Given the description of an element on the screen output the (x, y) to click on. 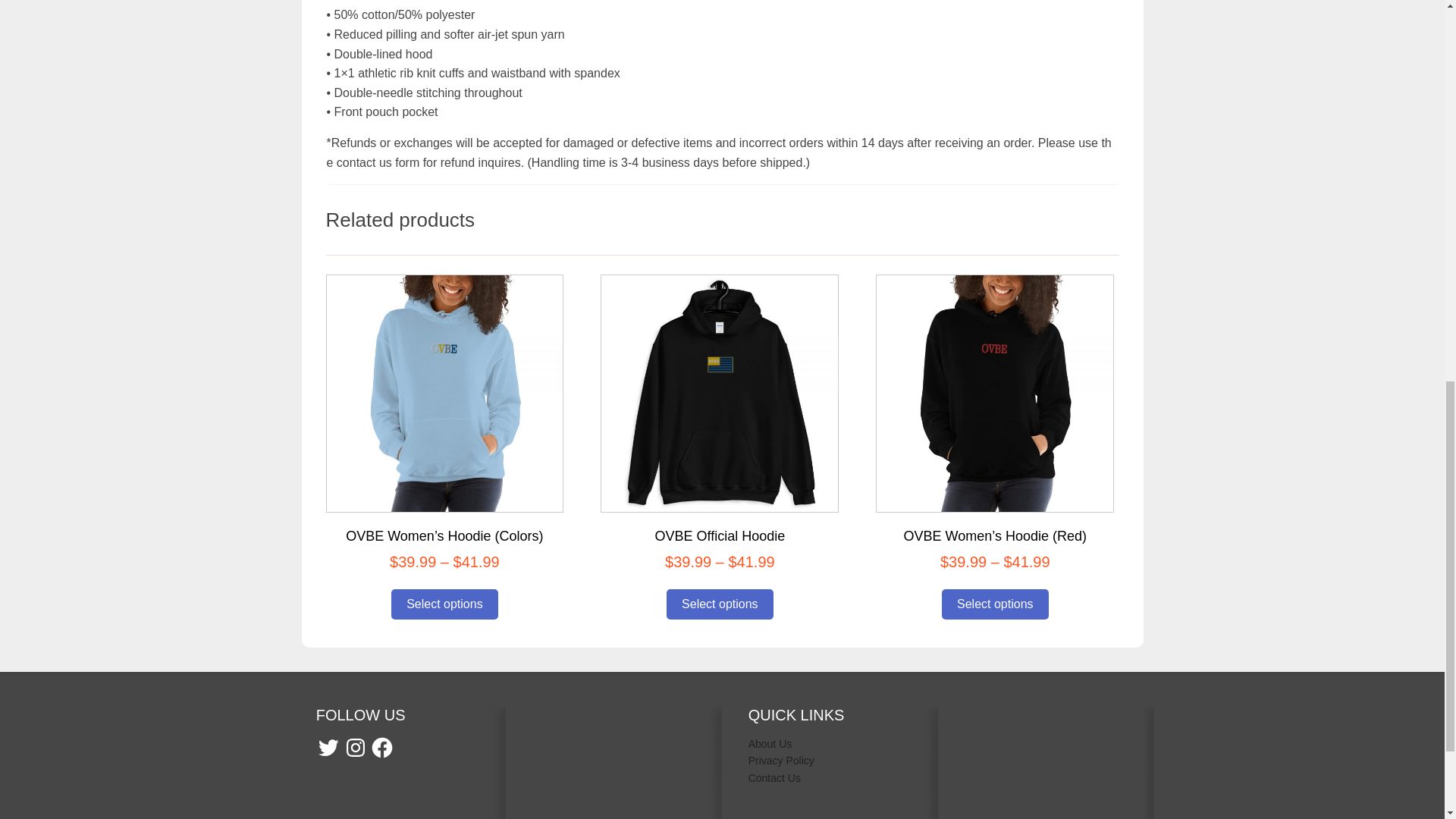
About Us (770, 743)
Select options (995, 603)
Facebook (381, 747)
Privacy Policy (780, 760)
Select options (719, 603)
Instagram (355, 747)
Select options (444, 603)
Twitter (327, 747)
